Given the description of an element on the screen output the (x, y) to click on. 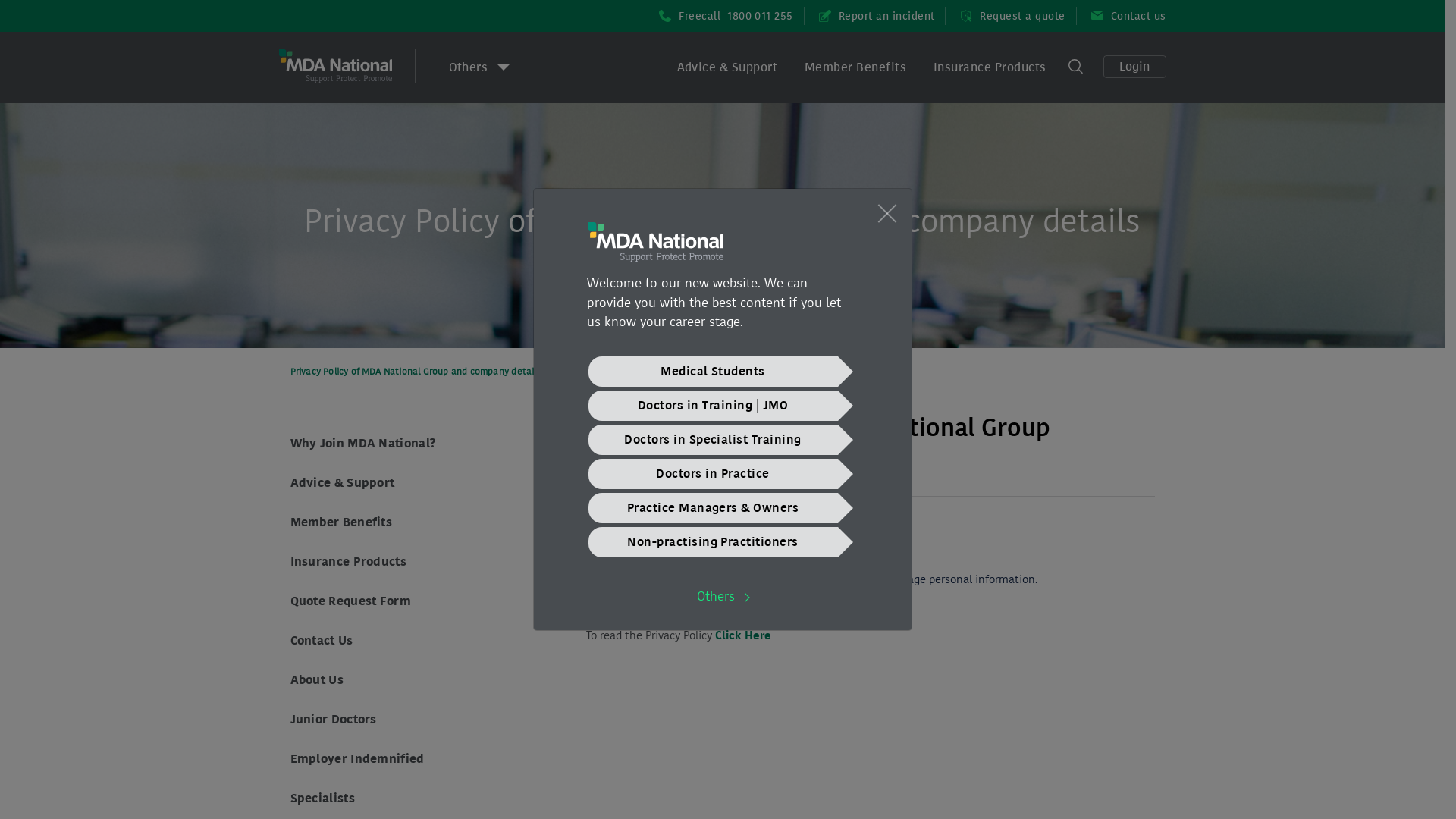
Login Element type: text (1133, 67)
Non-practising Practitioners Element type: text (712, 541)
Employer Indemnified Element type: text (356, 758)
Doctors in Specialist Training Element type: text (712, 439)
Junior Doctors Element type: text (332, 719)
Advice & Support Element type: text (726, 67)
Doctors in Training | JMO Element type: text (712, 404)
Insurance Products Element type: text (347, 561)
Freecall
  1800 011 255 Element type: text (718, 15)
About Us Element type: text (315, 679)
Doctors in Practice Element type: text (712, 473)
Login Element type: text (1133, 66)
Member Benefits Element type: text (340, 522)
Medical Students Element type: text (712, 371)
Advice & Support Element type: text (341, 482)
Quote Request Form Element type: text (349, 600)
Contact Us Element type: text (320, 640)
Click Here Element type: text (742, 635)
Practice Managers & Owners Element type: text (712, 507)
Report an incident Element type: text (869, 15)
Others Element type: text (479, 67)
Others Element type: text (721, 595)
Member Benefits Element type: text (855, 67)
Contact us Element type: text (1121, 15)
Why Join MDA National? Element type: text (362, 443)
Specialists Element type: text (321, 798)
Insurance Products Element type: text (989, 67)
Request a quote Element type: text (1004, 15)
